Given the description of an element on the screen output the (x, y) to click on. 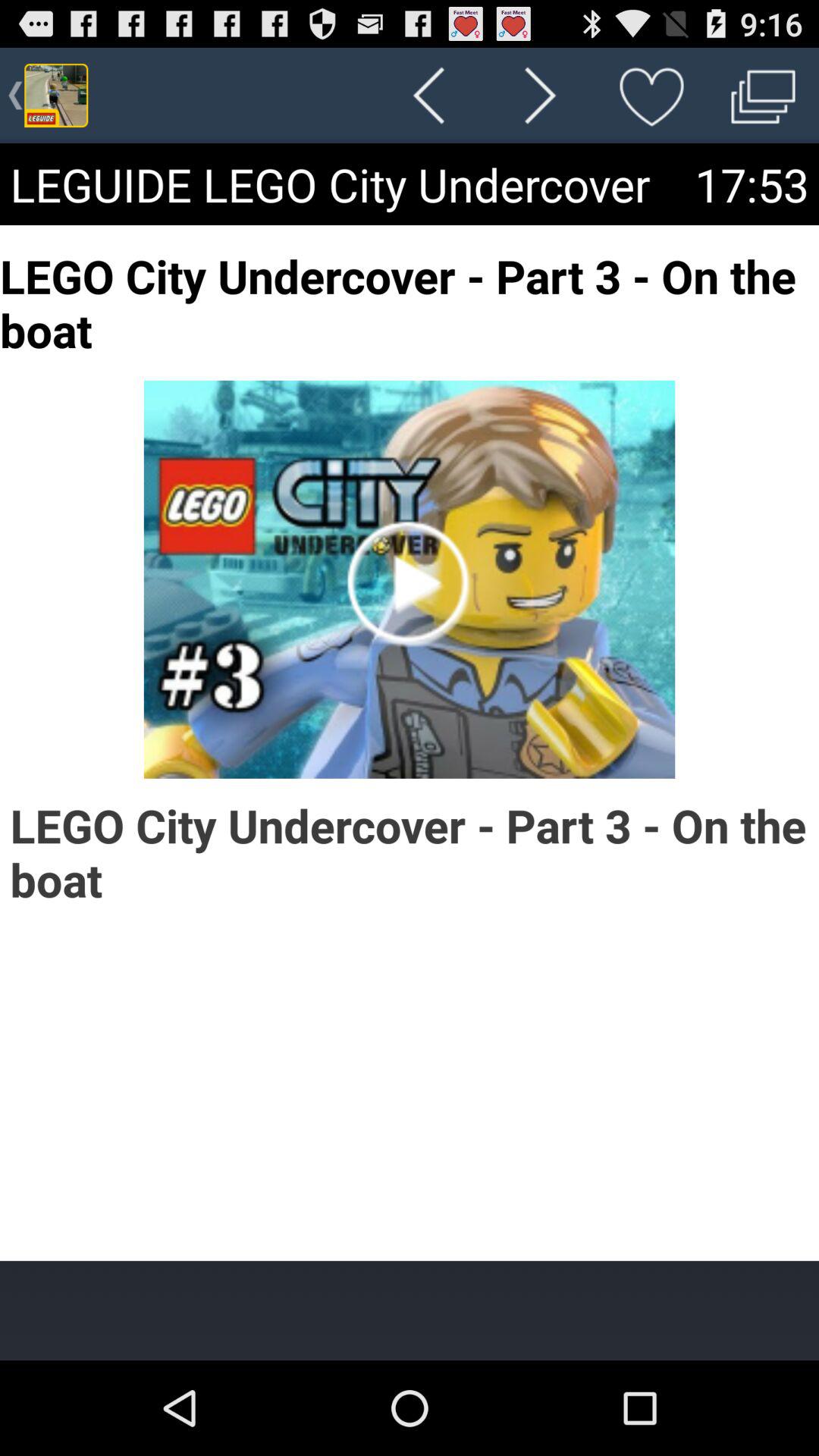
turn on item at the bottom (409, 1310)
